Given the description of an element on the screen output the (x, y) to click on. 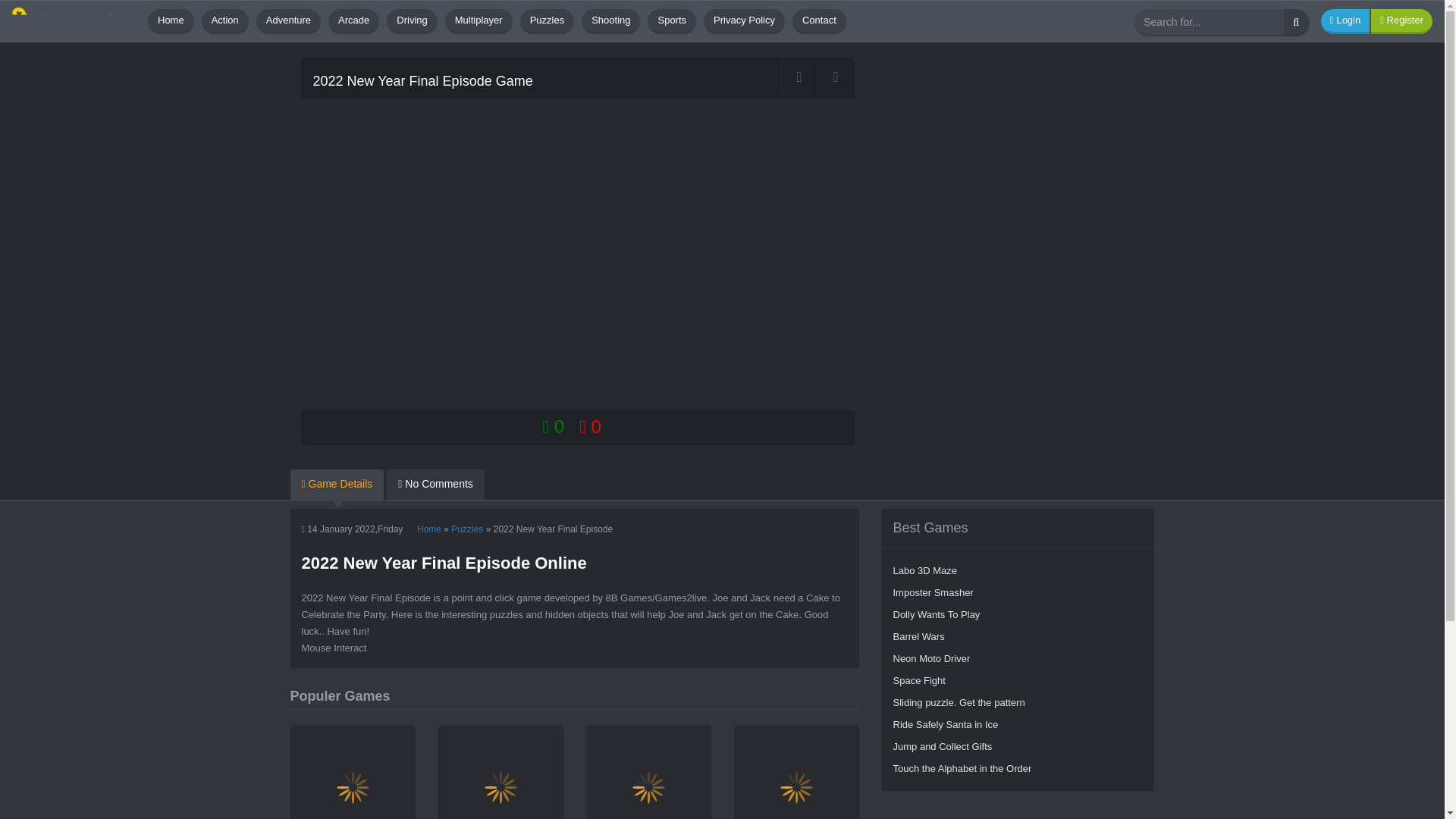
Multiplayer (478, 21)
No Comments (435, 484)
Puzzles (547, 21)
Arcade (353, 21)
Action (225, 21)
Puzzles (547, 21)
0    0 (571, 426)
Puzzles (467, 529)
Home (170, 21)
  Action (796, 771)
